Given the description of an element on the screen output the (x, y) to click on. 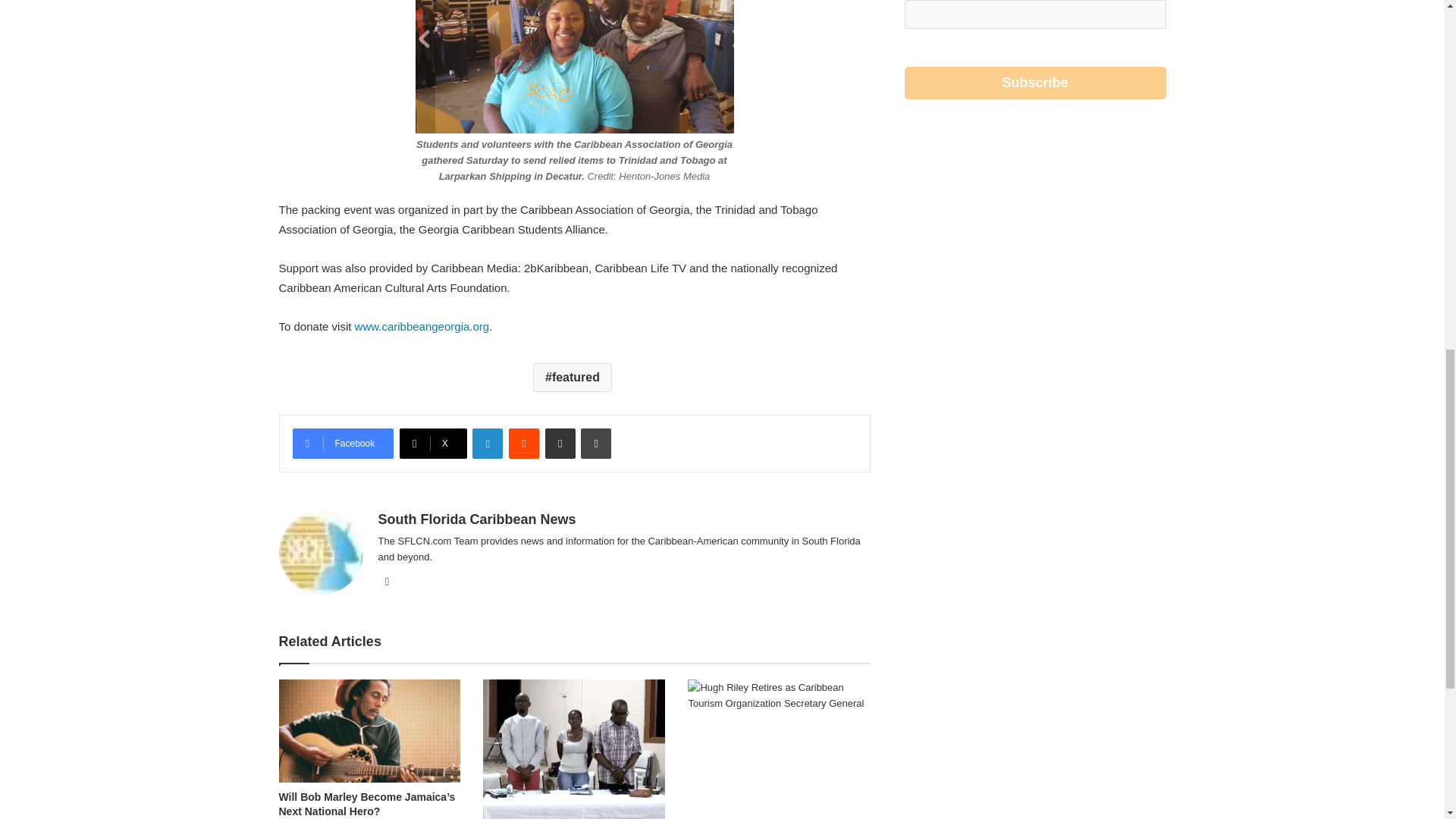
Share via Email (559, 443)
X (432, 443)
www.caribbeangeorgia.org (422, 326)
Print (595, 443)
featured (571, 377)
Reddit (523, 443)
X (432, 443)
Facebook (343, 443)
LinkedIn (486, 443)
Facebook (343, 443)
